Given the description of an element on the screen output the (x, y) to click on. 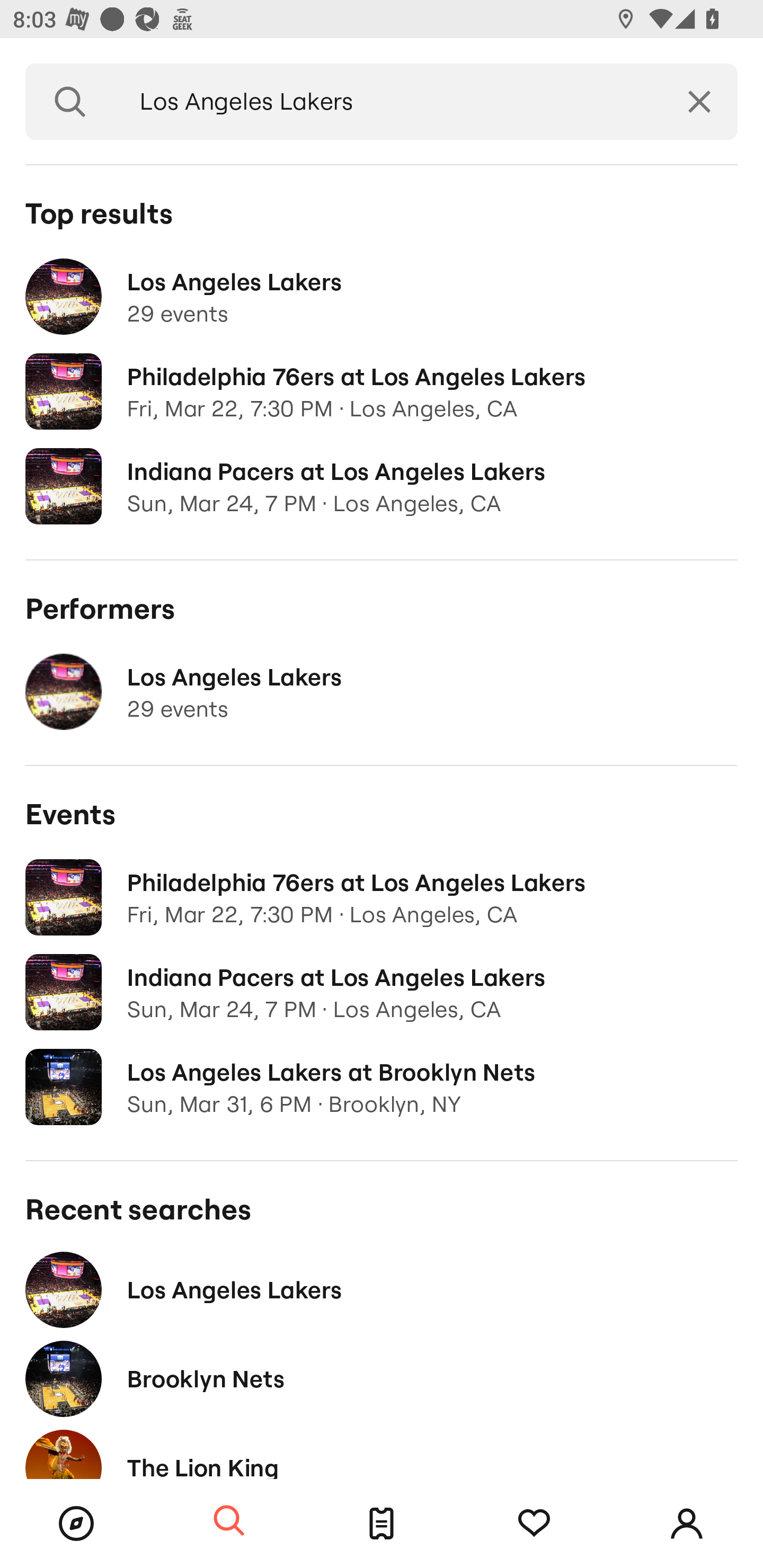
Search (69, 101)
Los Angeles Lakers (387, 101)
Clear (699, 101)
Los Angeles Lakers 29 events (381, 296)
Los Angeles Lakers 29 events (381, 692)
Los Angeles Lakers (381, 1289)
Brooklyn Nets (381, 1378)
Browse (76, 1523)
Search (228, 1521)
Tickets (381, 1523)
Tracking (533, 1523)
Account (686, 1523)
